Given the description of an element on the screen output the (x, y) to click on. 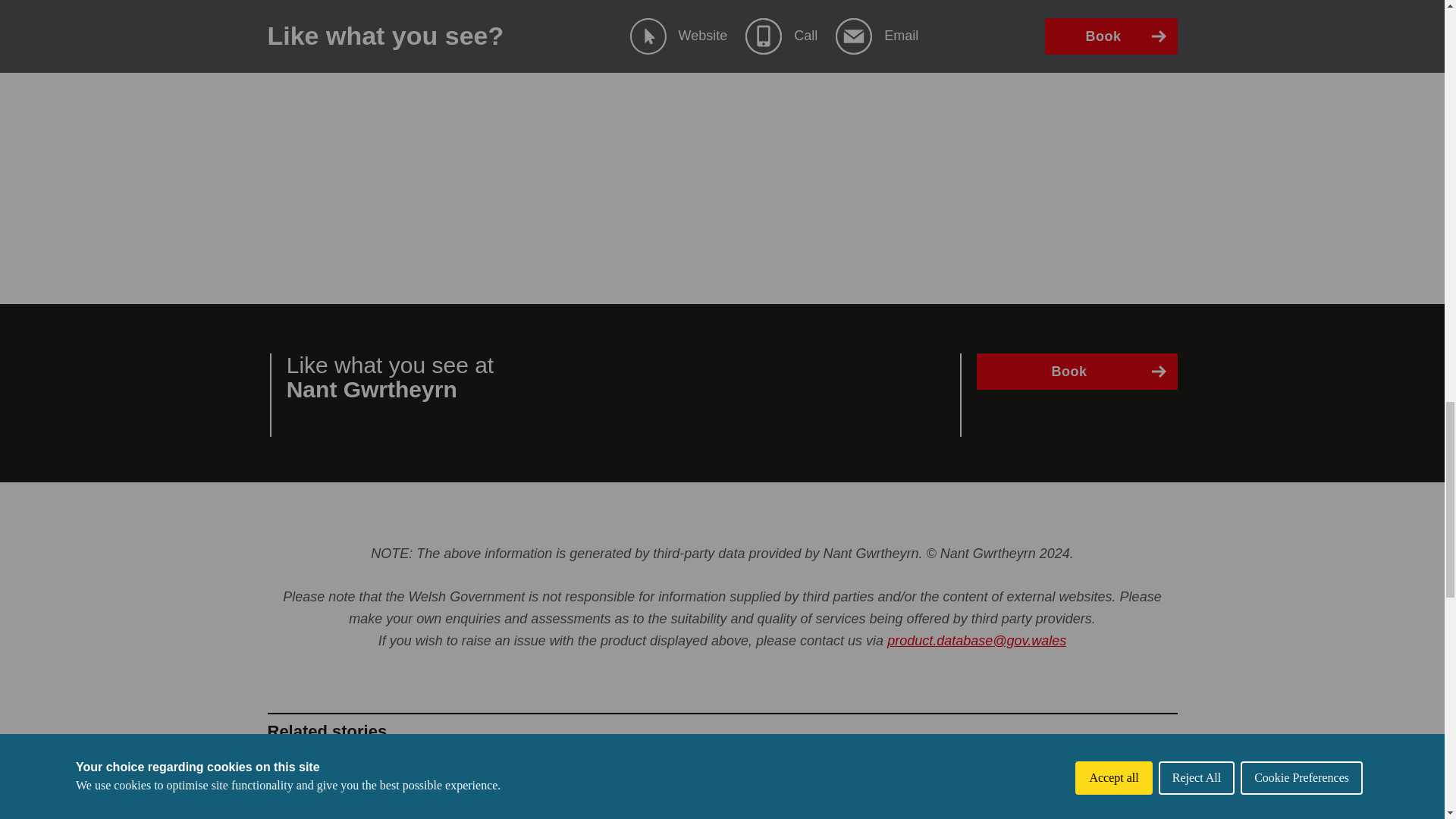
Book (1076, 370)
